Given the description of an element on the screen output the (x, y) to click on. 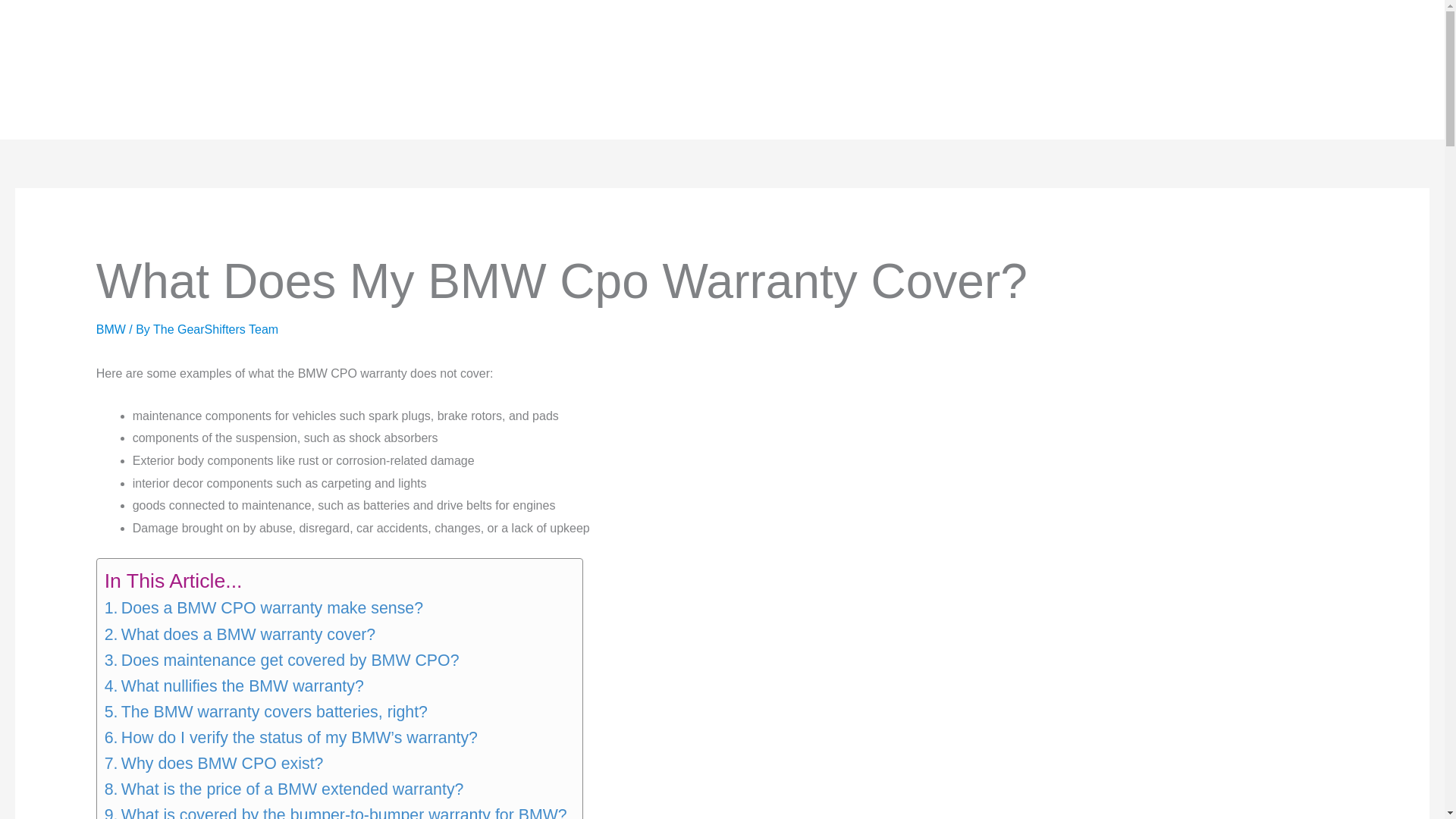
What is covered by the bumper-to-bumper warranty for BMW? (335, 810)
What nullifies the BMW warranty? (234, 686)
BMW (110, 328)
What is the price of a BMW extended warranty? (284, 789)
CONTACT US (1380, 70)
View all posts by The GearShifters Team (215, 328)
The BMW warranty covers batteries, right? (266, 711)
The BMW warranty covers batteries, right? (266, 711)
ABOUT (1320, 70)
Does maintenance get covered by BMW CPO? (282, 660)
GUIDES (247, 69)
Why does BMW CPO exist? (213, 763)
What does a BMW warranty cover? (239, 634)
Why does BMW CPO exist? (213, 763)
What does a BMW warranty cover? (239, 634)
